Given the description of an element on the screen output the (x, y) to click on. 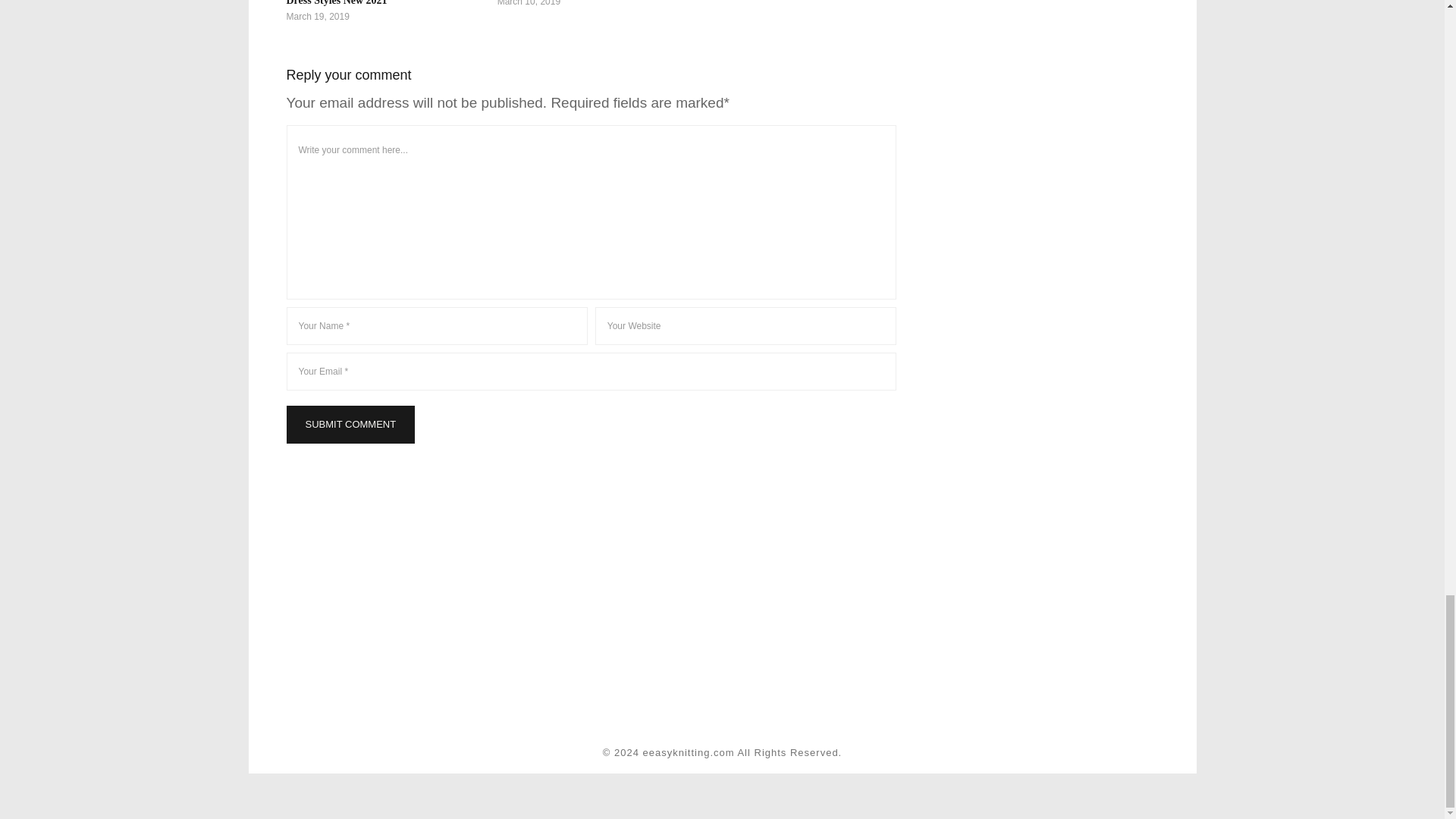
Submit Comment (350, 424)
